Given the description of an element on the screen output the (x, y) to click on. 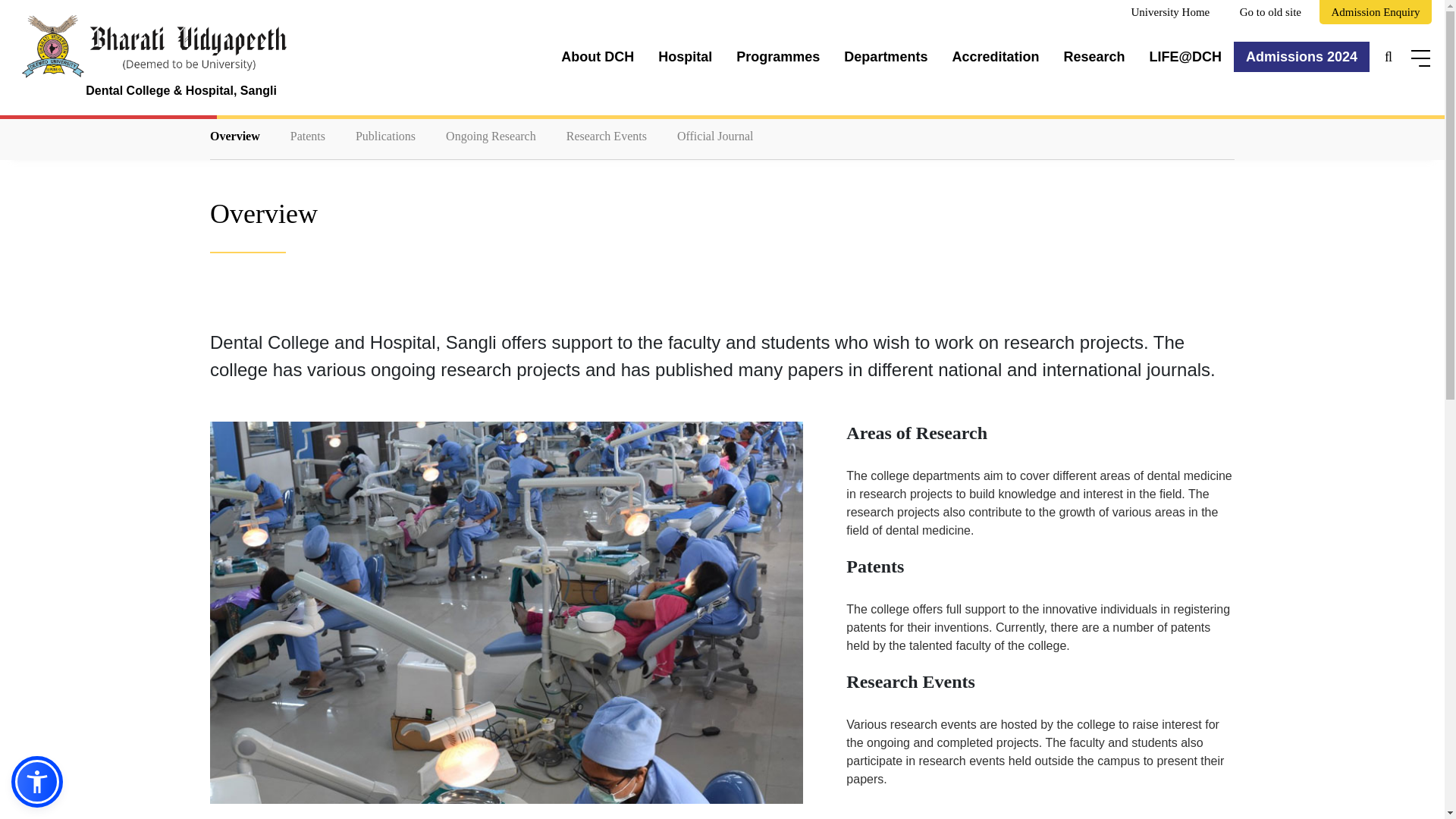
University Home (1170, 12)
Departments (885, 56)
Go to old site (1270, 12)
About DCH (597, 56)
Programmes (777, 56)
Research (1094, 56)
Admissions 2024 (1301, 56)
Open Accessibility Menu (36, 781)
Admission Enquiry (1375, 12)
Hospital (684, 56)
Accreditation (995, 56)
